Given the description of an element on the screen output the (x, y) to click on. 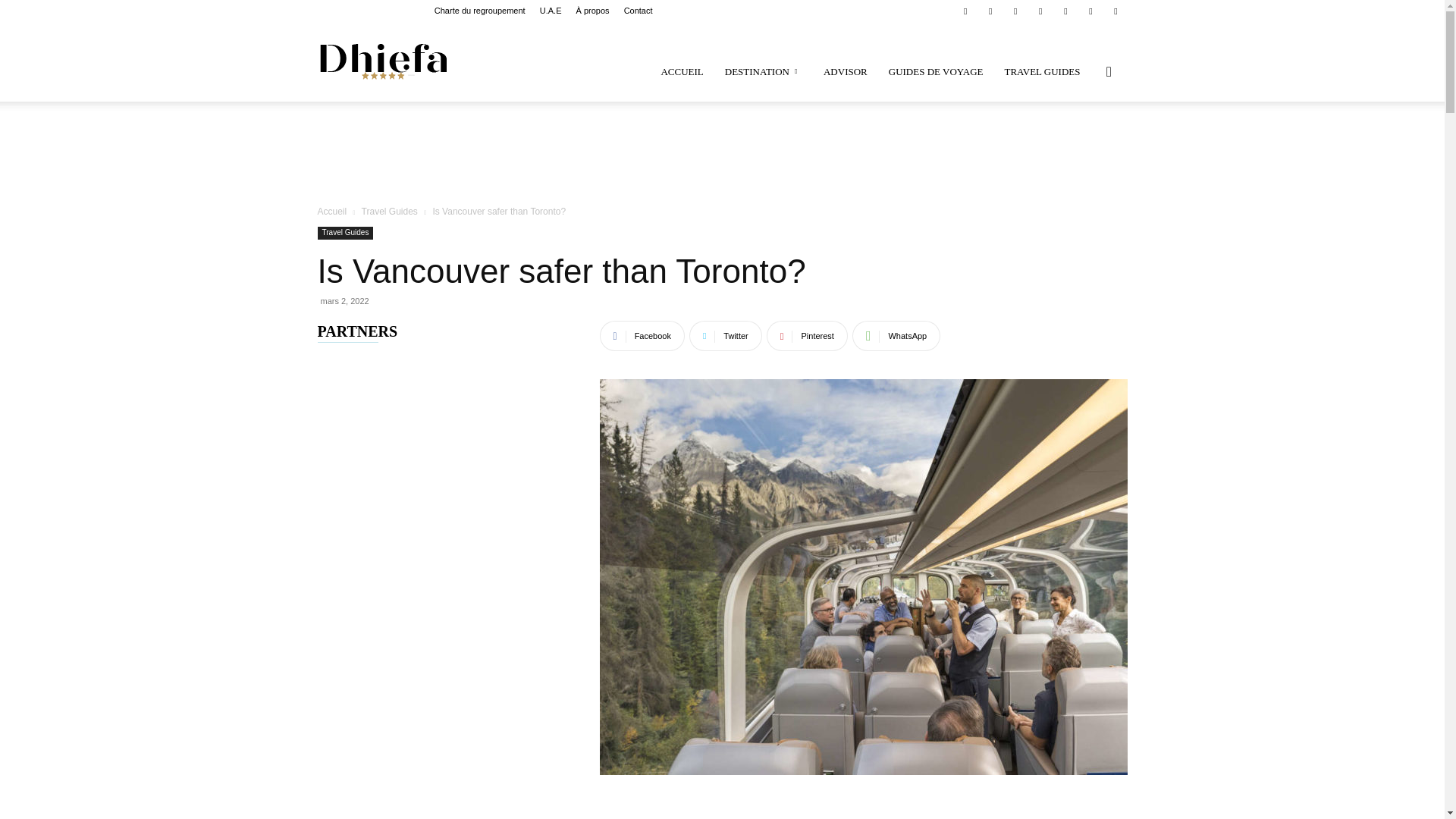
Pinterest (1040, 10)
Linkedin (989, 10)
Charte du regroupement (479, 10)
Mail (1015, 10)
Twitter (1090, 10)
Youtube (1114, 10)
U.A.E (551, 10)
Facebook (964, 10)
Tumblr (1065, 10)
Contact (638, 10)
